Given the description of an element on the screen output the (x, y) to click on. 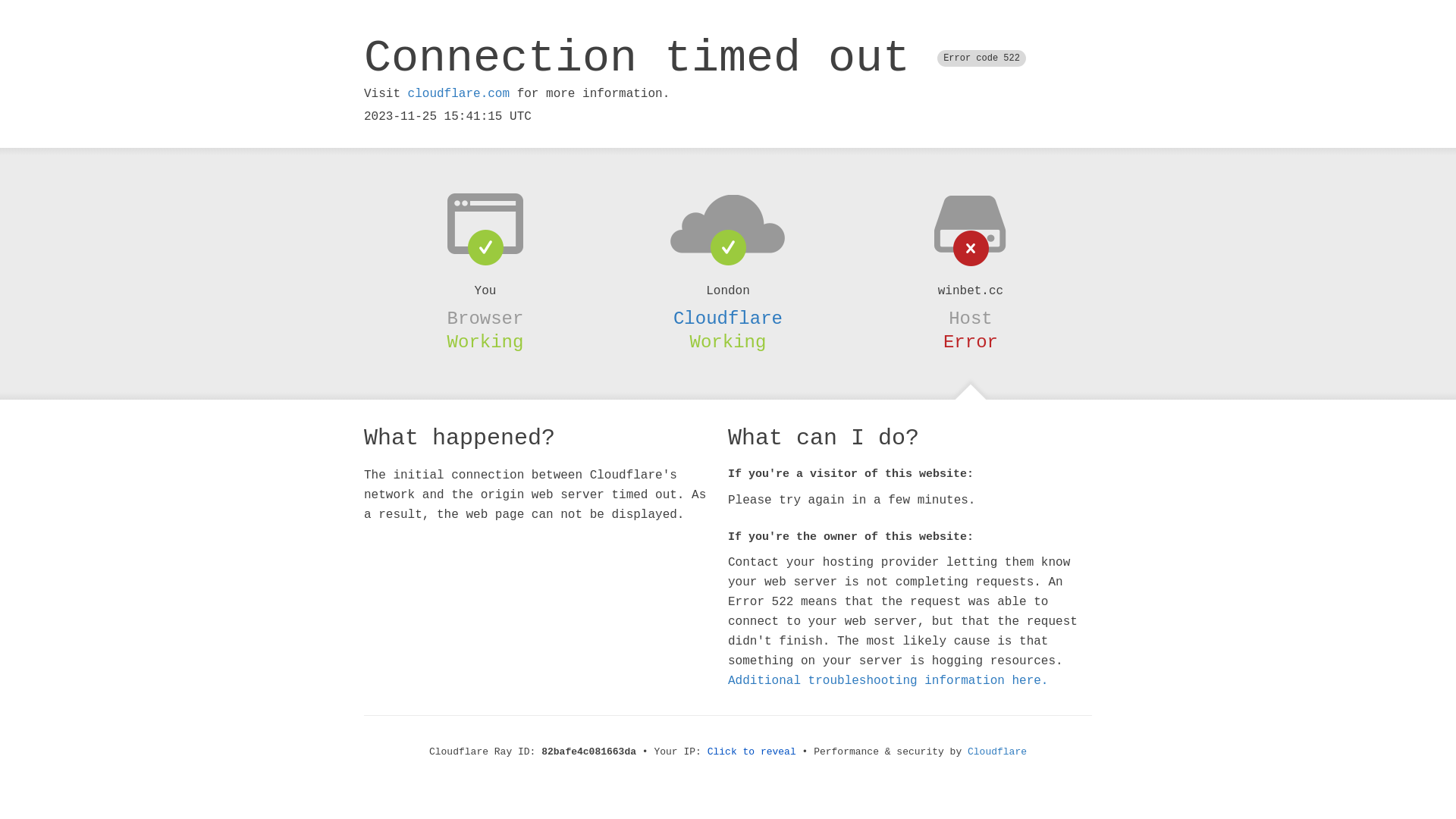
cloudflare.com Element type: text (458, 93)
Click to reveal Element type: text (751, 751)
Additional troubleshooting information here. Element type: text (888, 680)
Cloudflare Element type: text (727, 318)
Cloudflare Element type: text (996, 751)
